Given the description of an element on the screen output the (x, y) to click on. 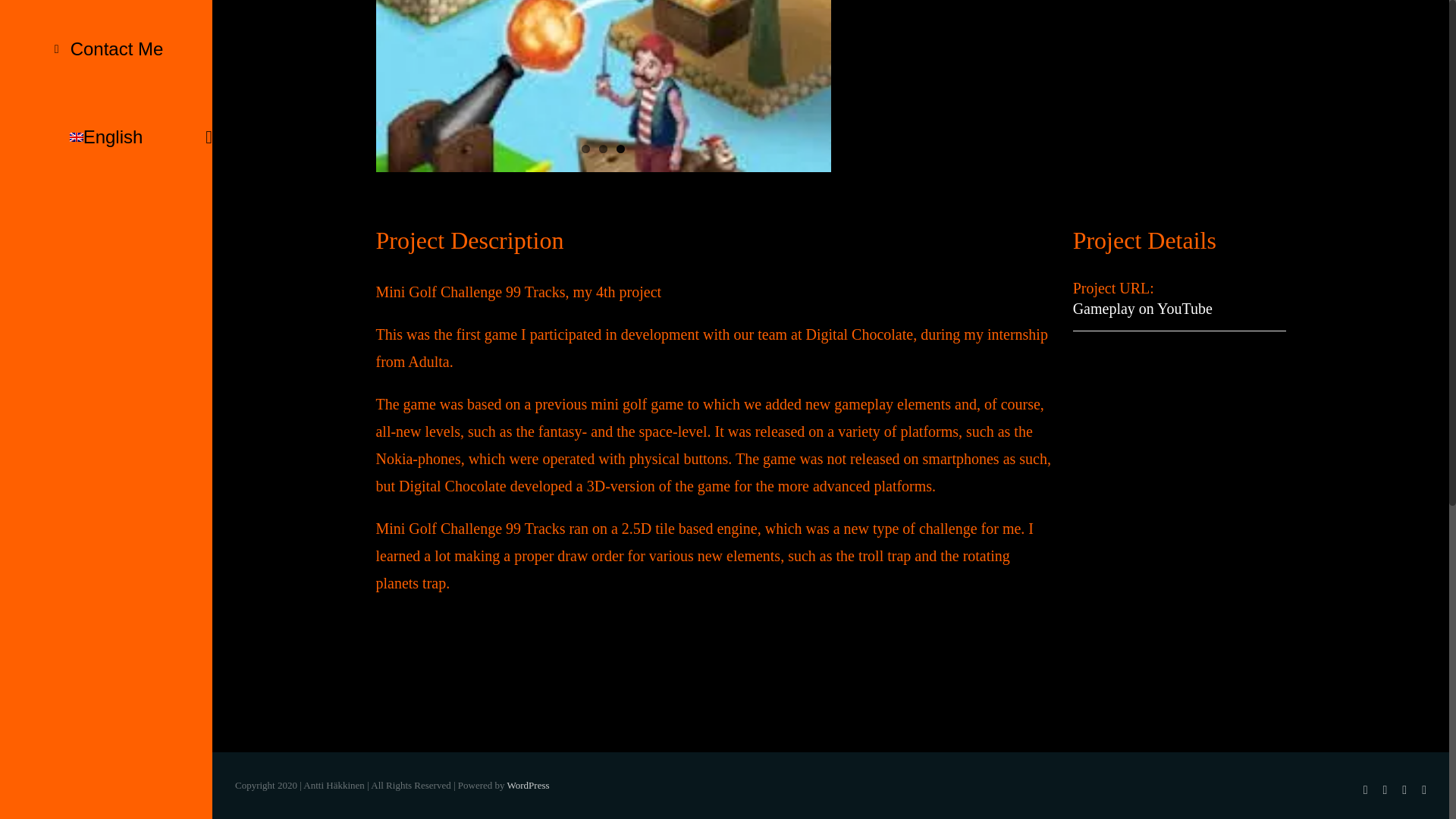
Gameplay on YouTube (1142, 308)
Education (106, 2)
View Larger Image (603, 85)
Contact Me (106, 48)
English (106, 137)
2 (602, 148)
1 (584, 148)
3 (619, 148)
English (106, 137)
